Given the description of an element on the screen output the (x, y) to click on. 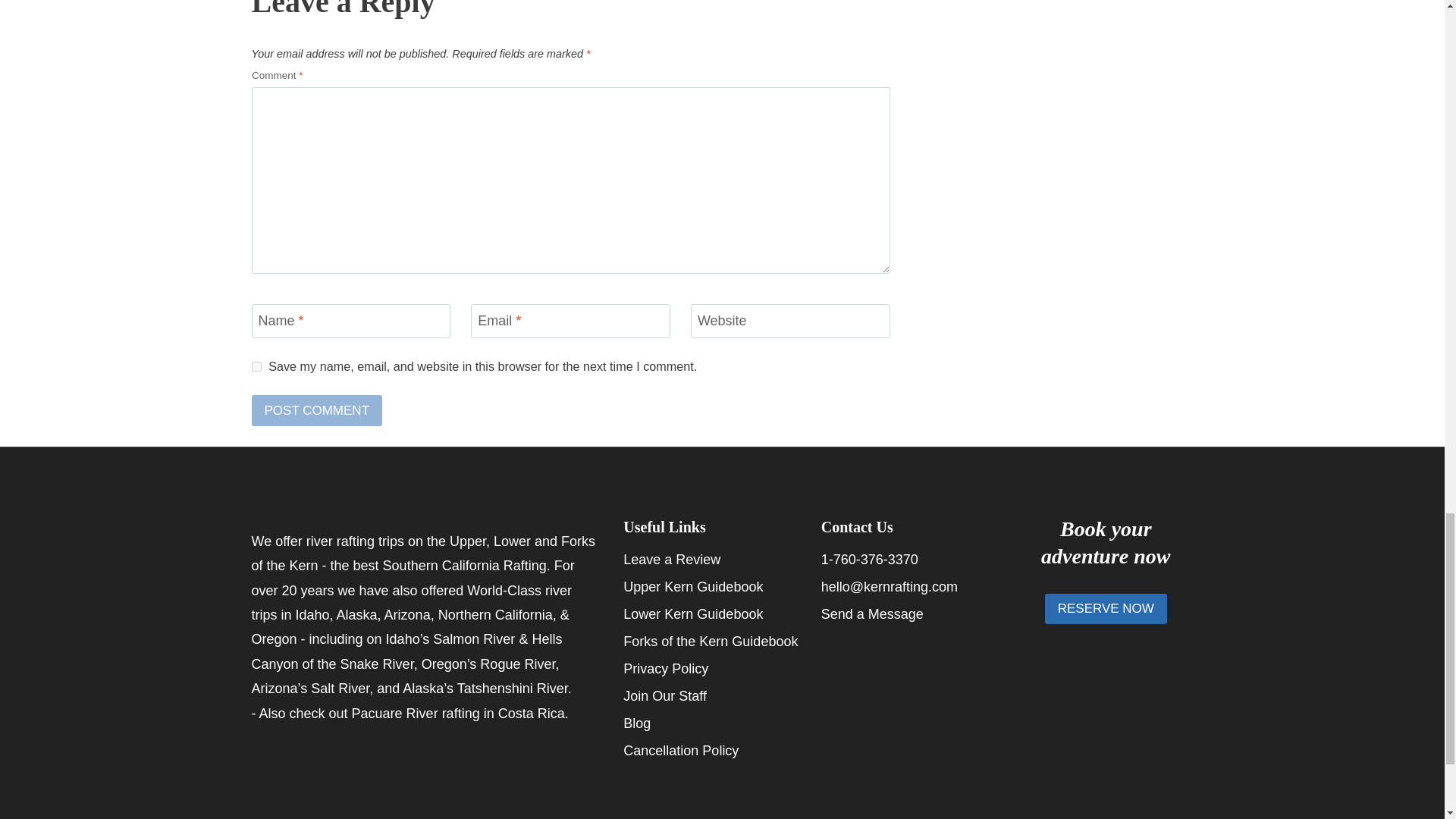
yes (256, 366)
Post Comment (316, 409)
